Given the description of an element on the screen output the (x, y) to click on. 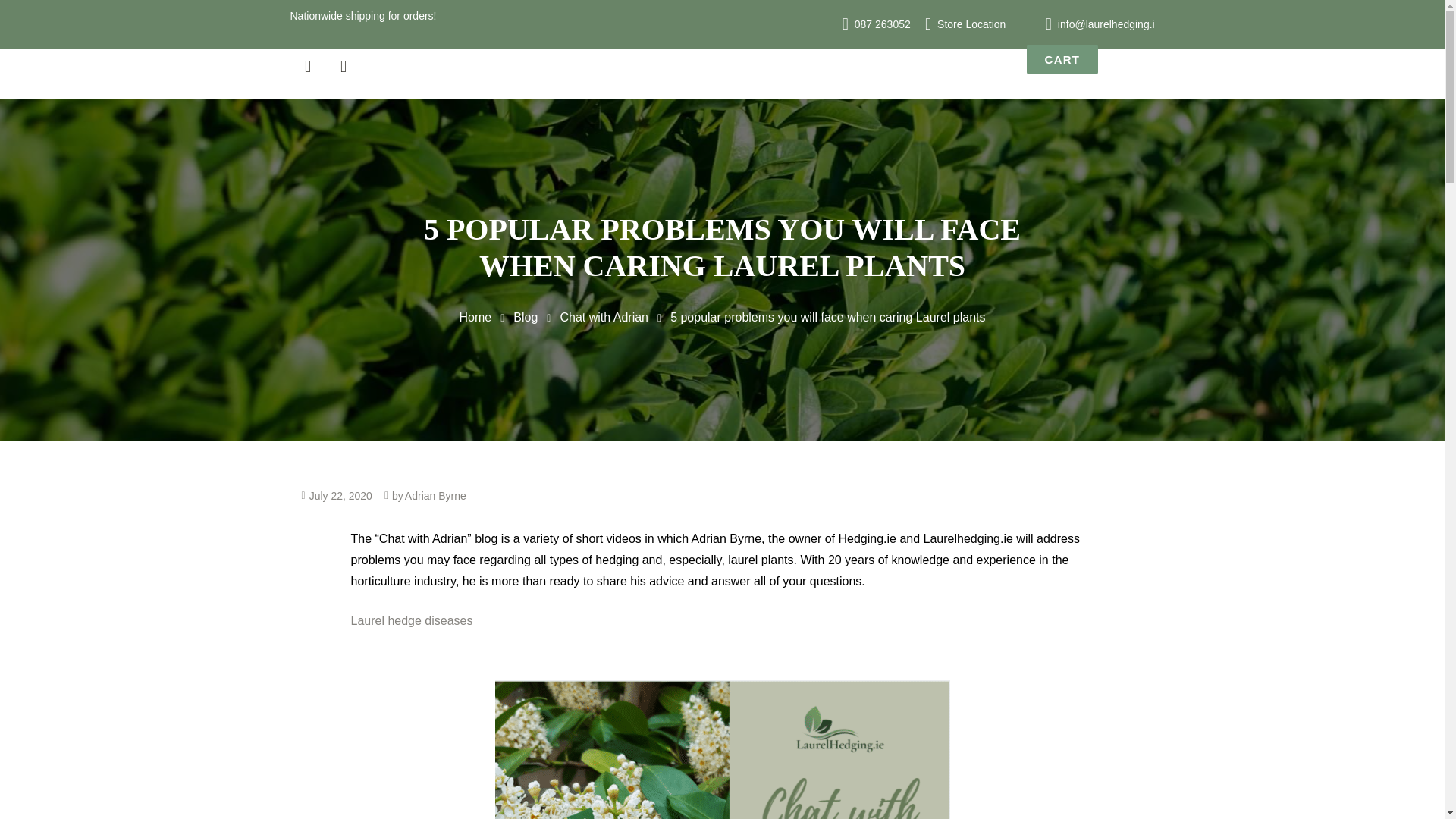
Go to Blog. (525, 317)
Chat with Adrian (603, 317)
087 2630523 (871, 24)
Laurel hedge diseases (410, 620)
July 22, 2020 (340, 496)
Blog (525, 317)
Go to the Chat with Adrian category archives. (603, 317)
Adrian Byrne (434, 495)
Store Location (958, 24)
Home (476, 317)
CART (1061, 58)
Go to Laurelhedging.ie. (476, 317)
